Given the description of an element on the screen output the (x, y) to click on. 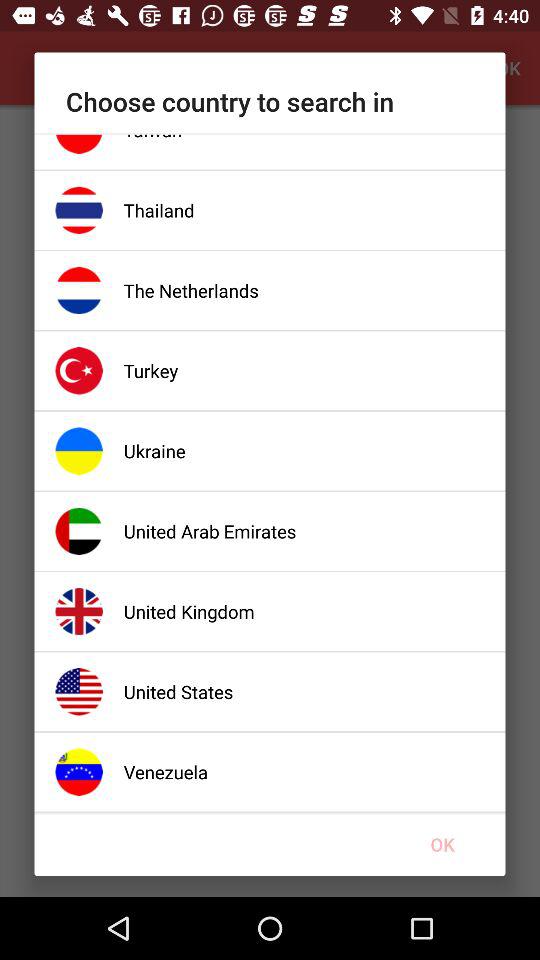
press ok (442, 844)
